Given the description of an element on the screen output the (x, y) to click on. 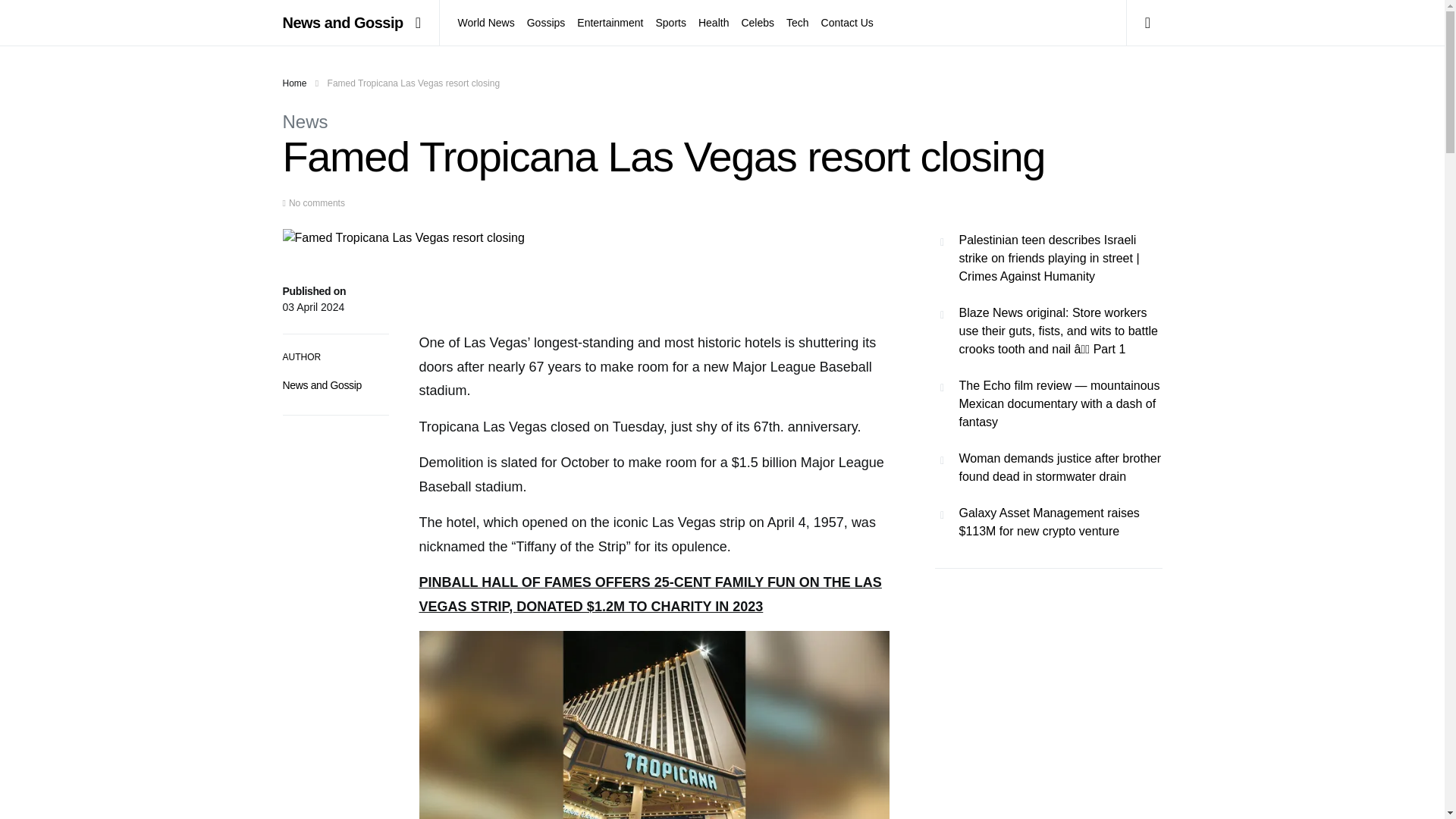
News (304, 121)
No comments (316, 202)
News and Gossip (342, 22)
Advertisement (1047, 705)
Health (714, 22)
World News (489, 22)
Entertainment (609, 22)
News and Gossip (321, 385)
Home (293, 82)
Contact Us (844, 22)
Gossips (546, 22)
Celebs (757, 22)
Sports (670, 22)
